Given the description of an element on the screen output the (x, y) to click on. 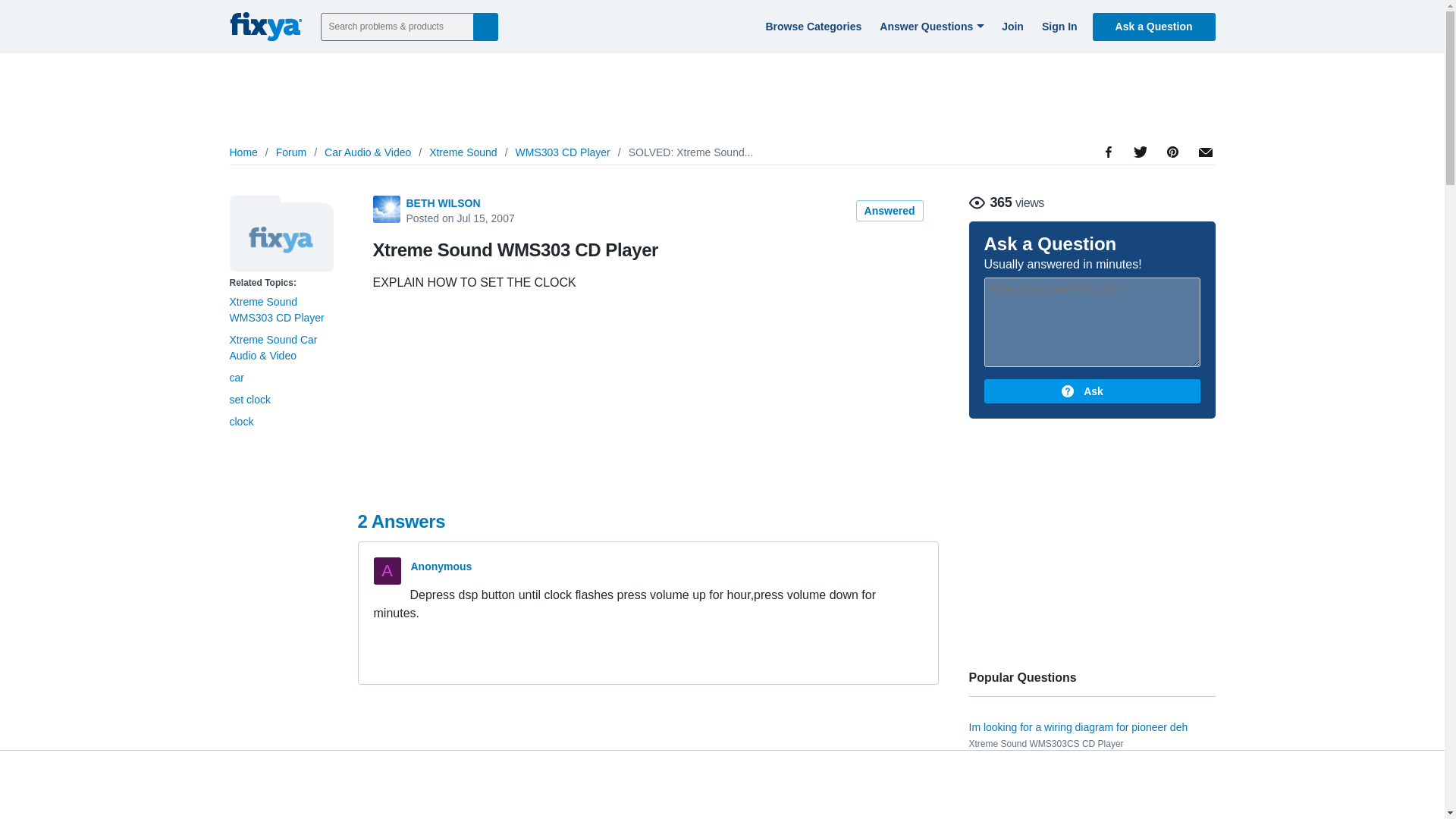
Browse Categories (810, 26)
WMS303 CD Player (562, 152)
Search Fixya (485, 26)
BETH WILSON (443, 203)
Share on Pinterest (1170, 194)
Share on Facebook (1108, 194)
Home (242, 152)
Ask a Question (1154, 26)
car (235, 377)
Forum (290, 152)
set clock (248, 399)
Sign In (1056, 26)
Xtreme Sound WMS303 CD Player (280, 233)
Xtreme Sound (463, 152)
Xtreme Sound WMS303 CD Player (275, 309)
